Given the description of an element on the screen output the (x, y) to click on. 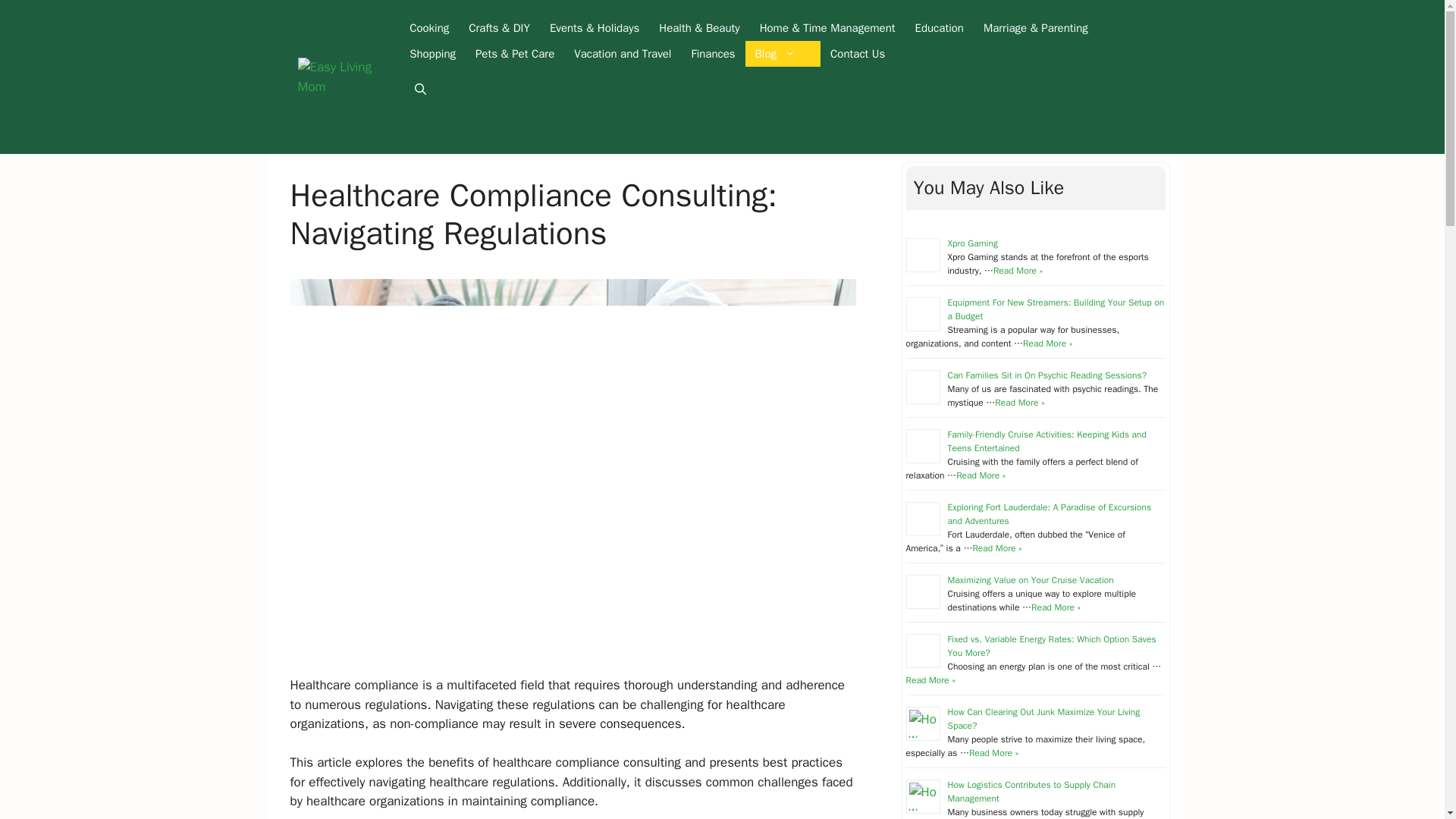
Shopping (431, 53)
Cooking (428, 27)
Blog (783, 53)
Vacation and Travel (622, 53)
Finances (712, 53)
Education (939, 27)
